Given the description of an element on the screen output the (x, y) to click on. 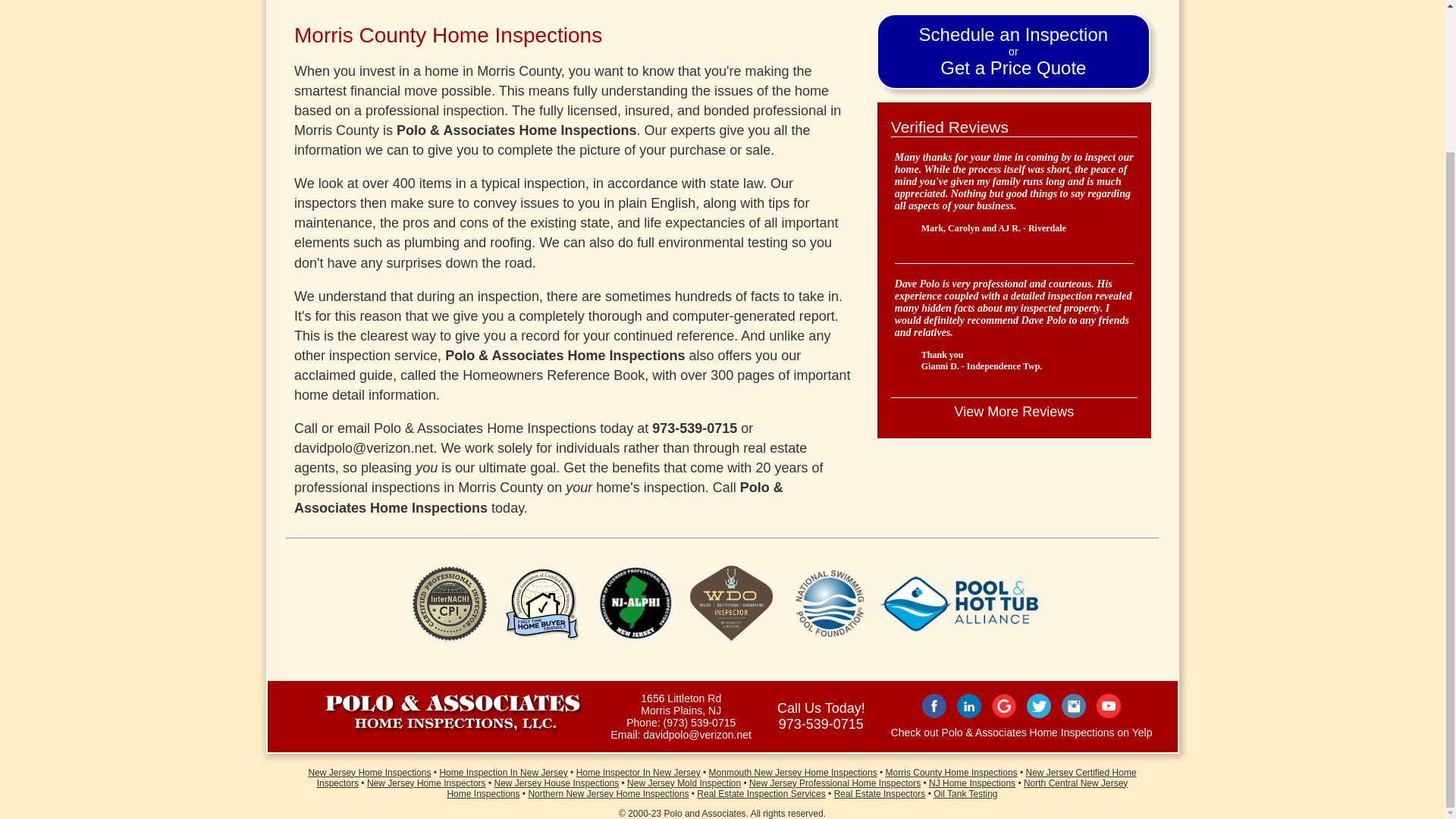
Home Inspector In New Jersey (638, 772)
View More Reviews (1013, 411)
New Jersey Home Inspections (368, 772)
Monmouth New Jersey Home Inspections (793, 772)
Home Inspection In New Jersey (1013, 51)
